Given the description of an element on the screen output the (x, y) to click on. 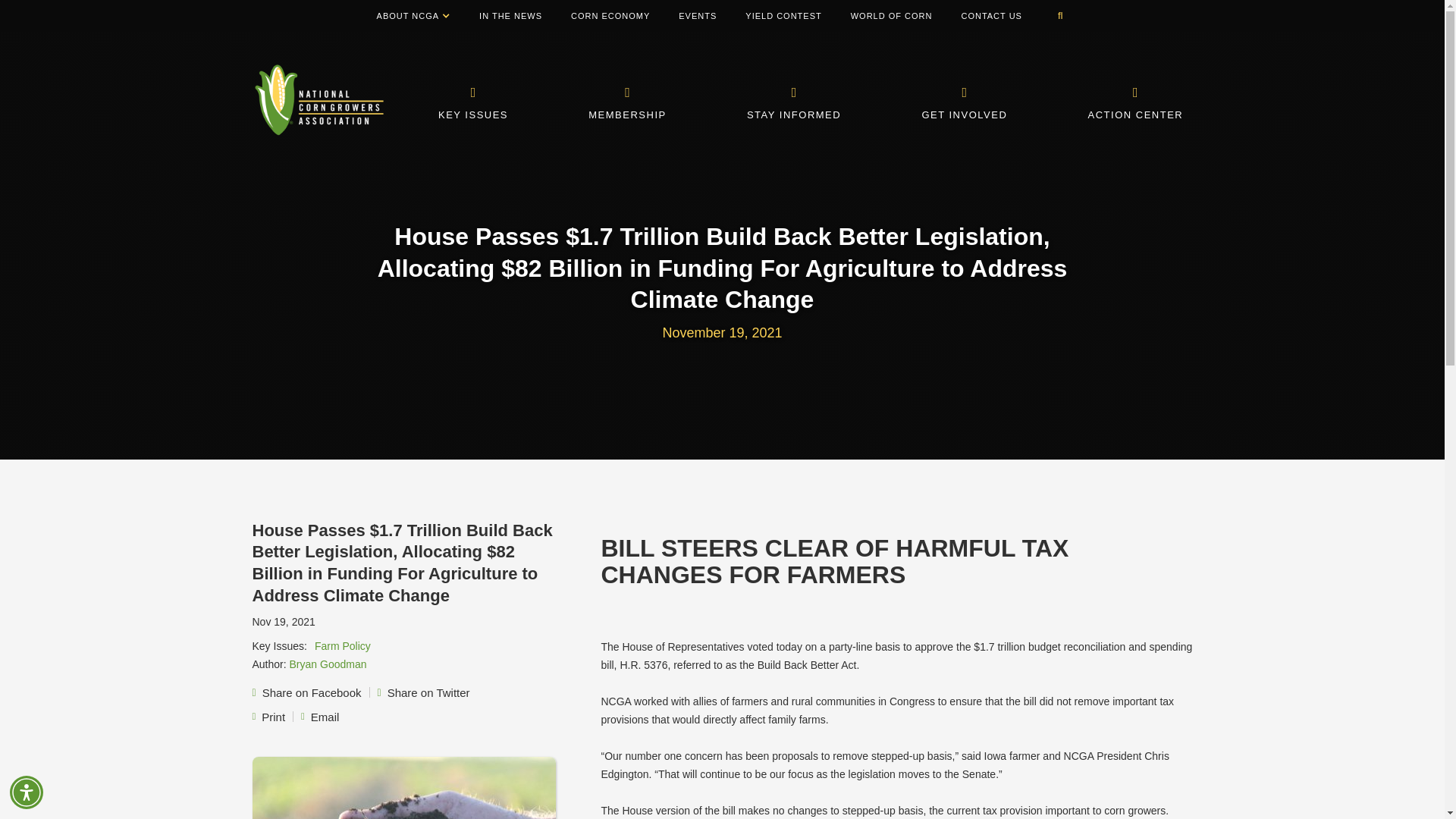
Accessibility Menu (26, 792)
